Given the description of an element on the screen output the (x, y) to click on. 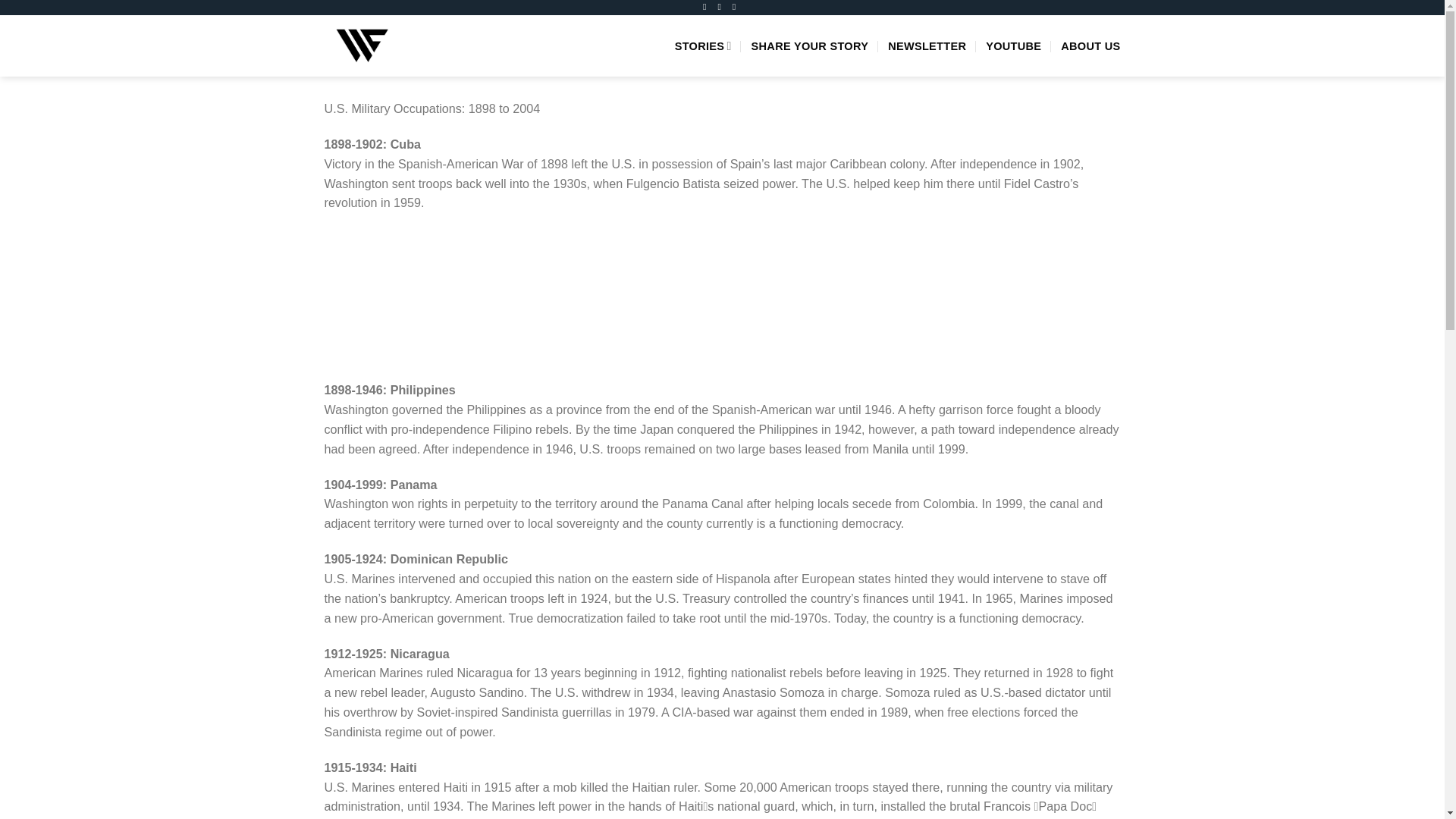
Advertisement (722, 304)
SHARE YOUR STORY (810, 45)
STORIES (703, 45)
ABOUT US (1090, 45)
NEWSLETTER (927, 45)
warchronicle.com - War Chronicle (380, 45)
YOUTUBE (1013, 45)
